Given the description of an element on the screen output the (x, y) to click on. 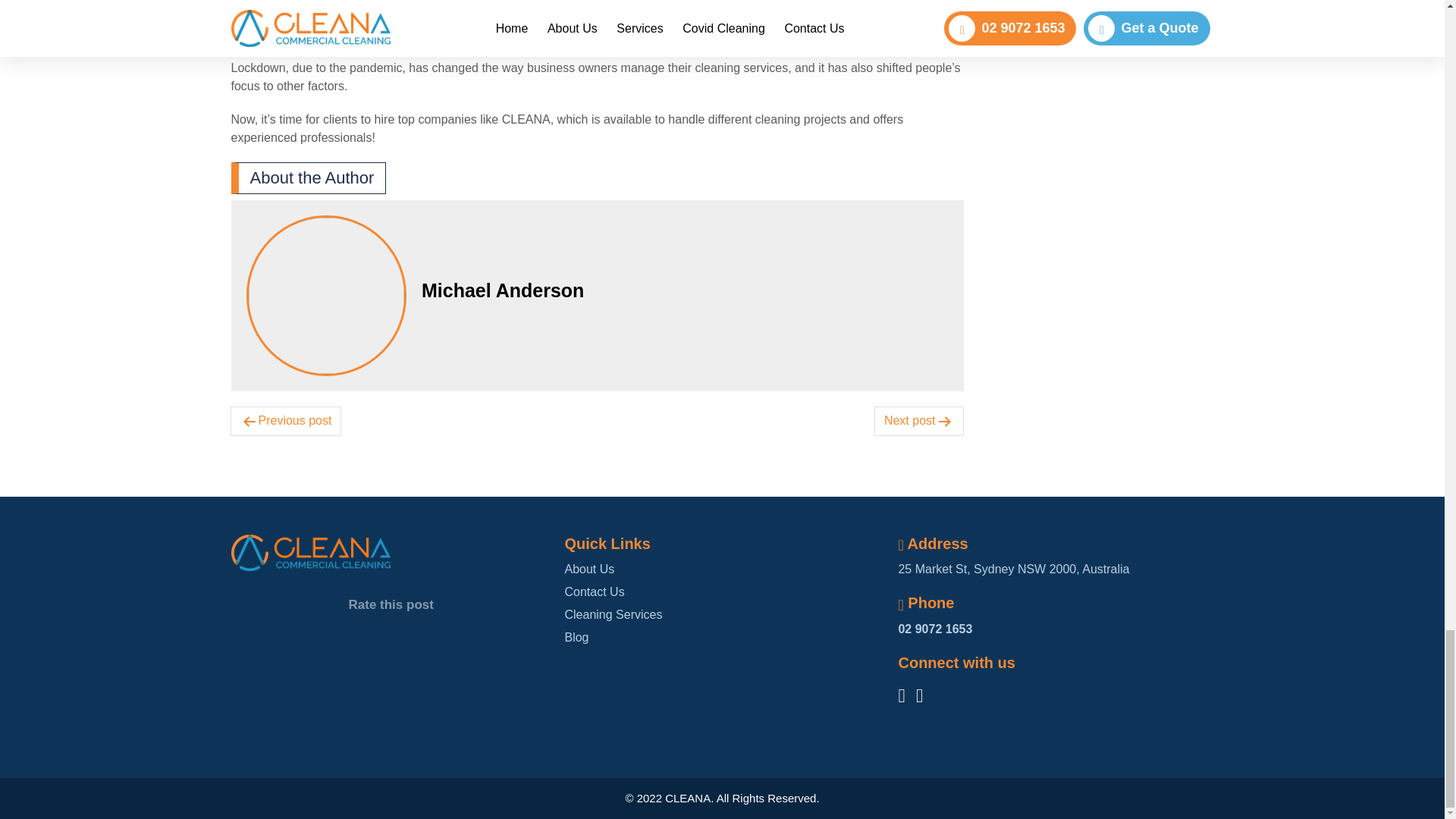
Next post (919, 436)
Michael Anderson (685, 290)
Posts by Michael Anderson (685, 290)
Previous post (285, 436)
